Given the description of an element on the screen output the (x, y) to click on. 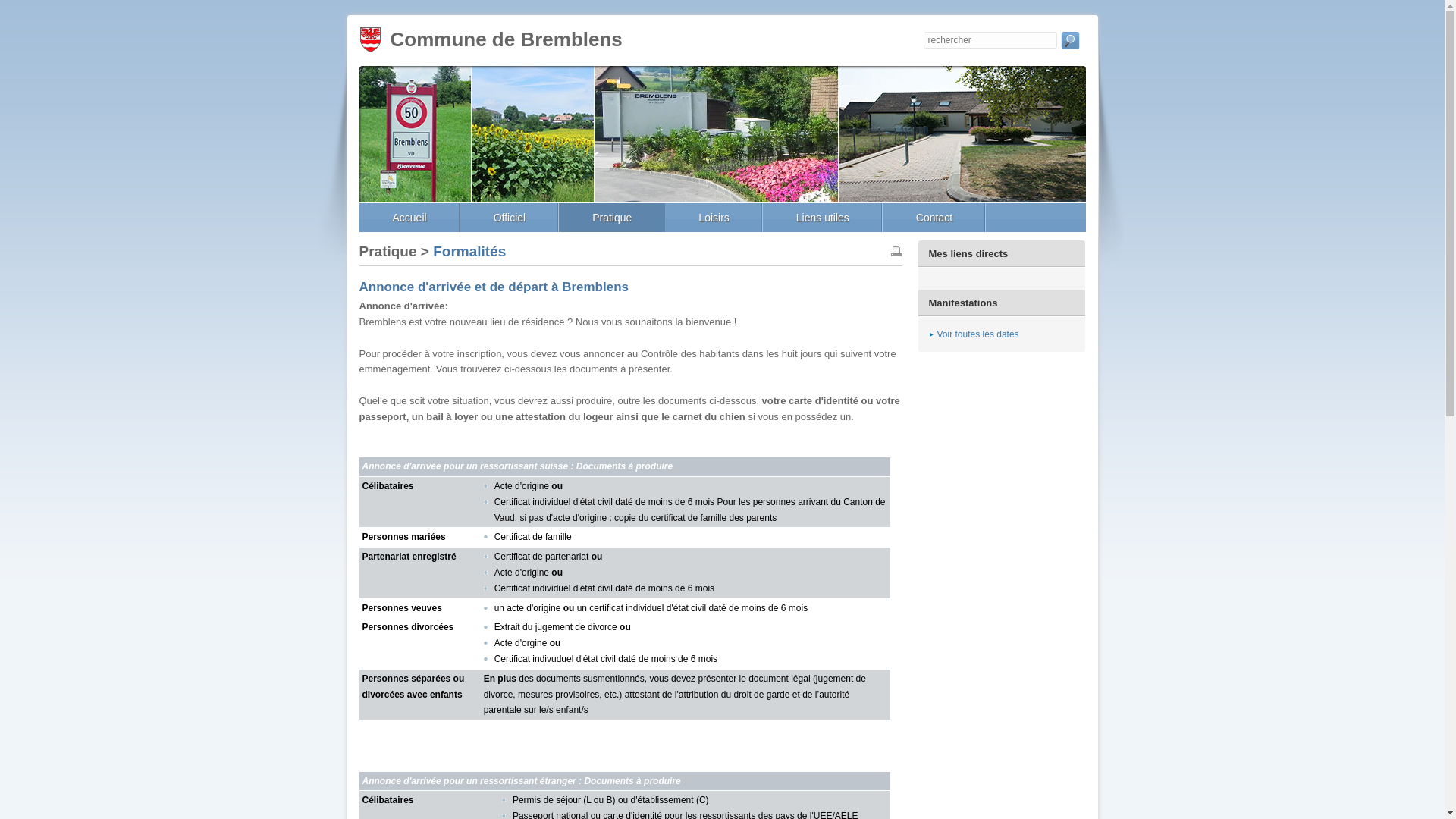
Contact Element type: text (933, 217)
Accueil Element type: text (409, 217)
rechercher Element type: hover (1069, 43)
Loisirs Element type: text (713, 217)
Liens utiles Element type: text (822, 217)
Pratique Element type: text (611, 217)
Voir toutes les dates Element type: text (974, 334)
  Element type: text (1069, 43)
imprimer la page Element type: hover (896, 251)
Officiel Element type: text (509, 217)
